Given the description of an element on the screen output the (x, y) to click on. 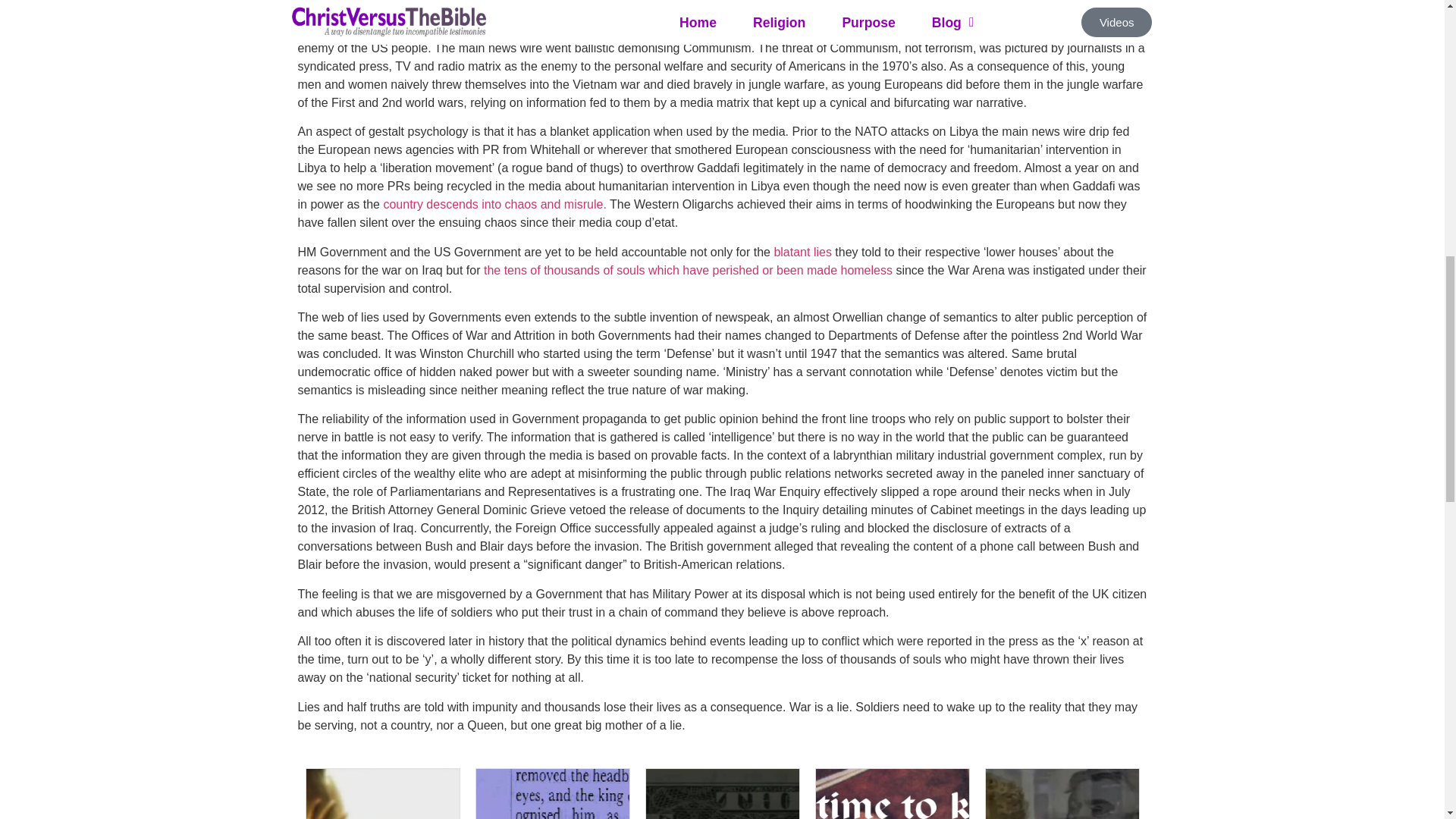
country descends into chaos and misrule. (493, 204)
blatant lies (802, 251)
